Given the description of an element on the screen output the (x, y) to click on. 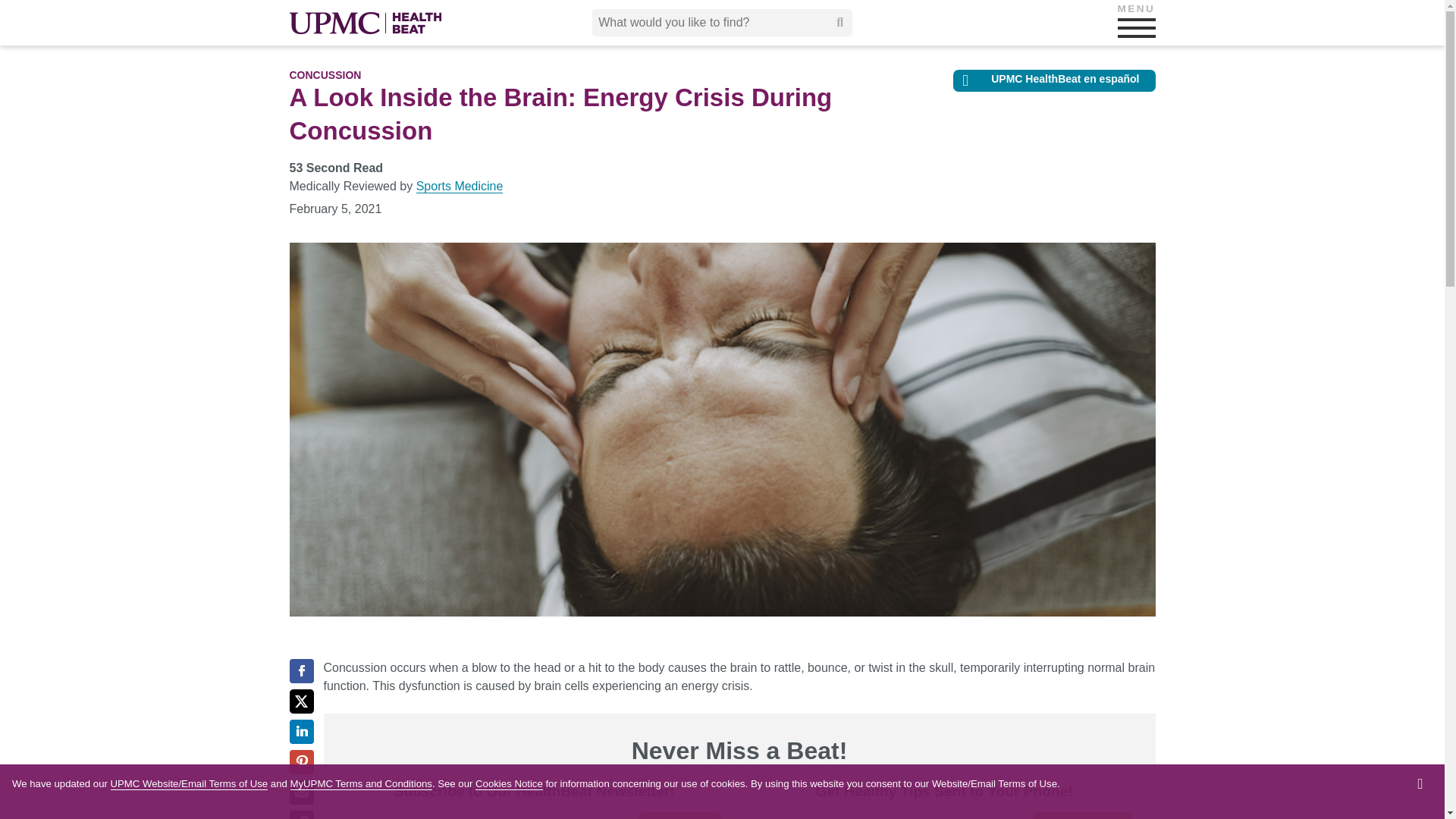
  MENU (1137, 27)
UPMC HealthBeat (365, 22)
MyUPMC Terms and Conditions (360, 784)
Cookies Notice (509, 784)
Submit search (839, 22)
